Given the description of an element on the screen output the (x, y) to click on. 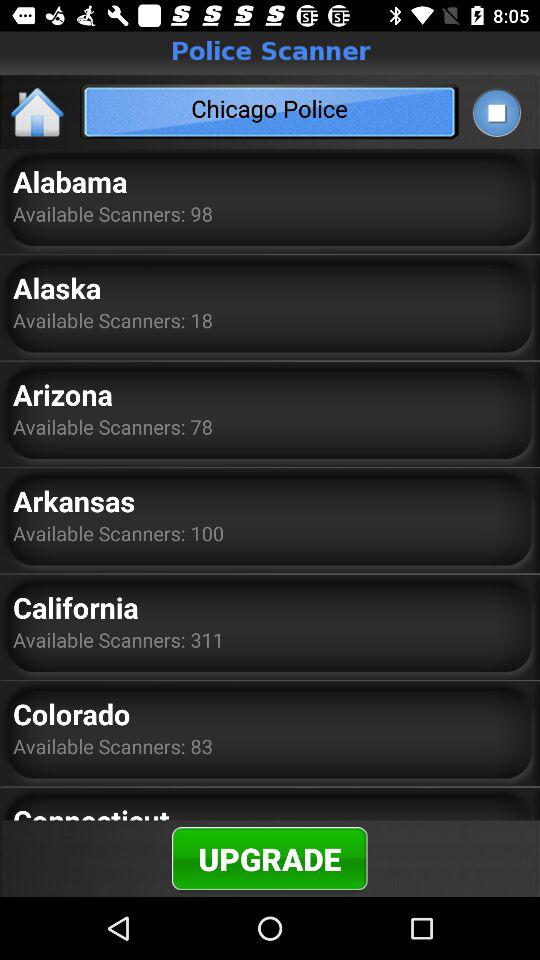
swipe until the california icon (75, 607)
